Given the description of an element on the screen output the (x, y) to click on. 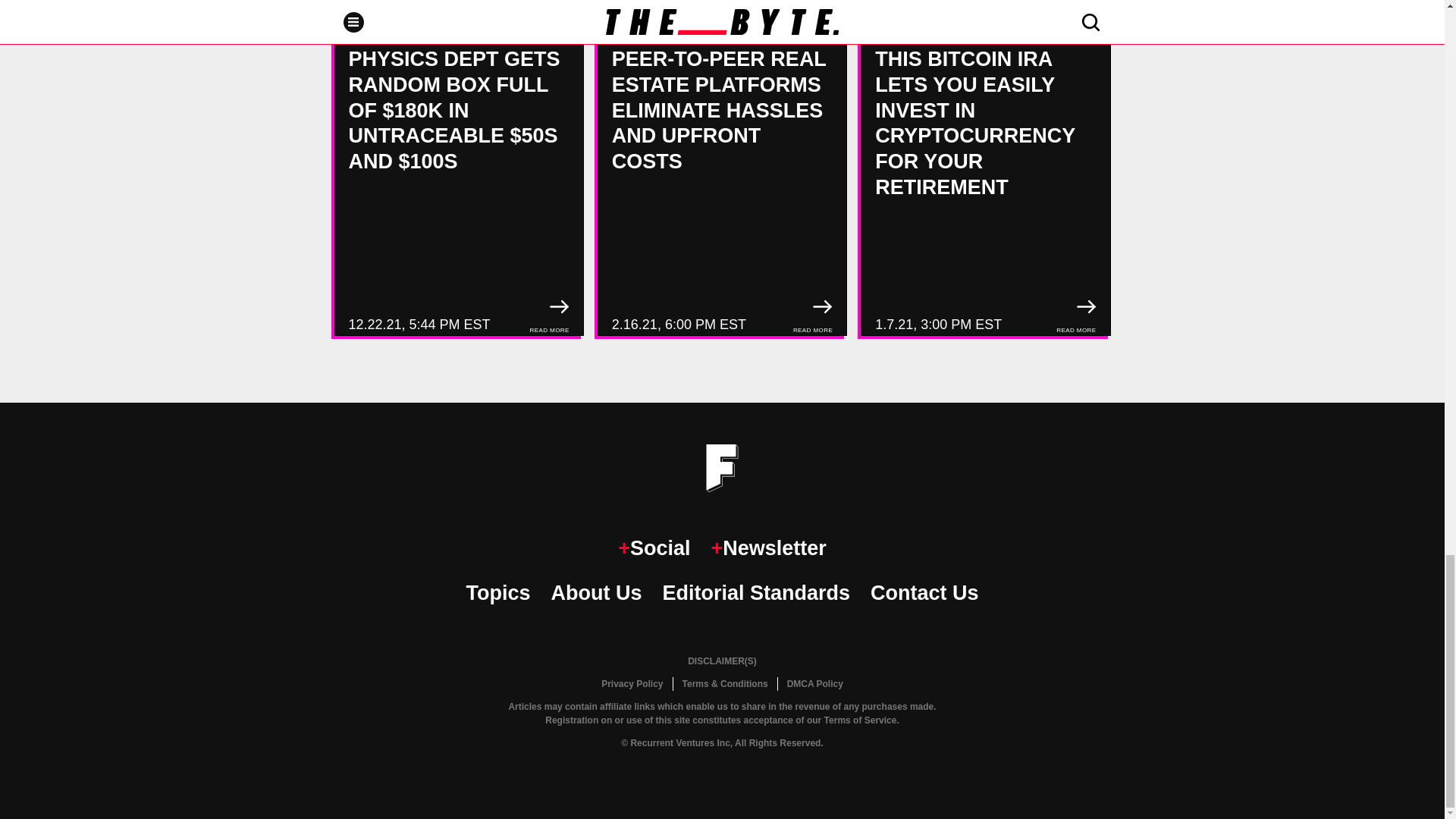
DMCA Policy (814, 684)
About Us (596, 593)
Contact Us (924, 593)
Privacy Policy (631, 684)
Topics (497, 593)
Editorial Standards (756, 593)
